Given the description of an element on the screen output the (x, y) to click on. 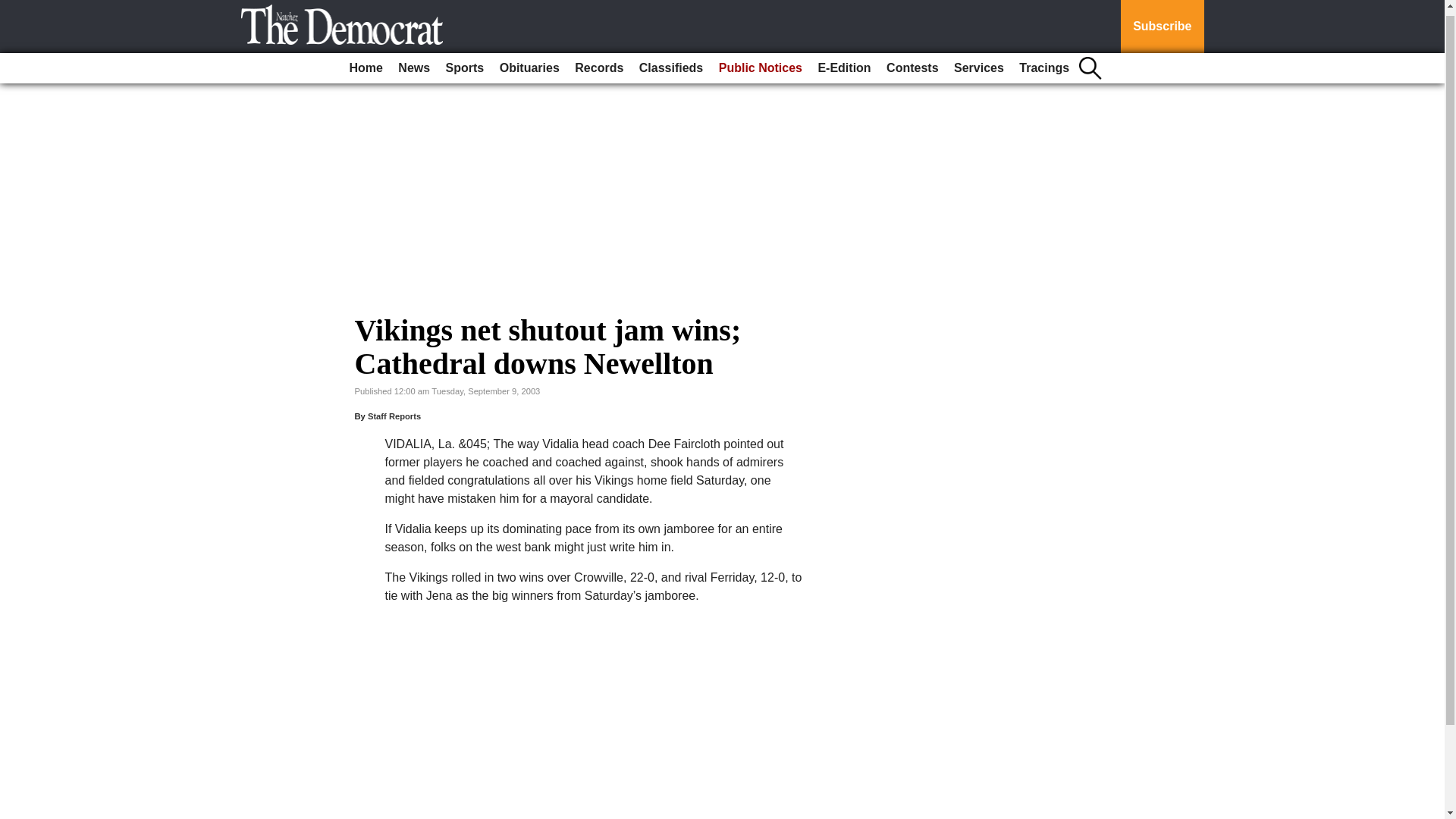
E-Edition (843, 62)
Public Notices (760, 62)
Records (598, 62)
Services (978, 62)
News (413, 62)
Subscribe (1162, 23)
Obituaries (529, 62)
Home (365, 62)
Sports (464, 62)
Go (13, 6)
